Given the description of an element on the screen output the (x, y) to click on. 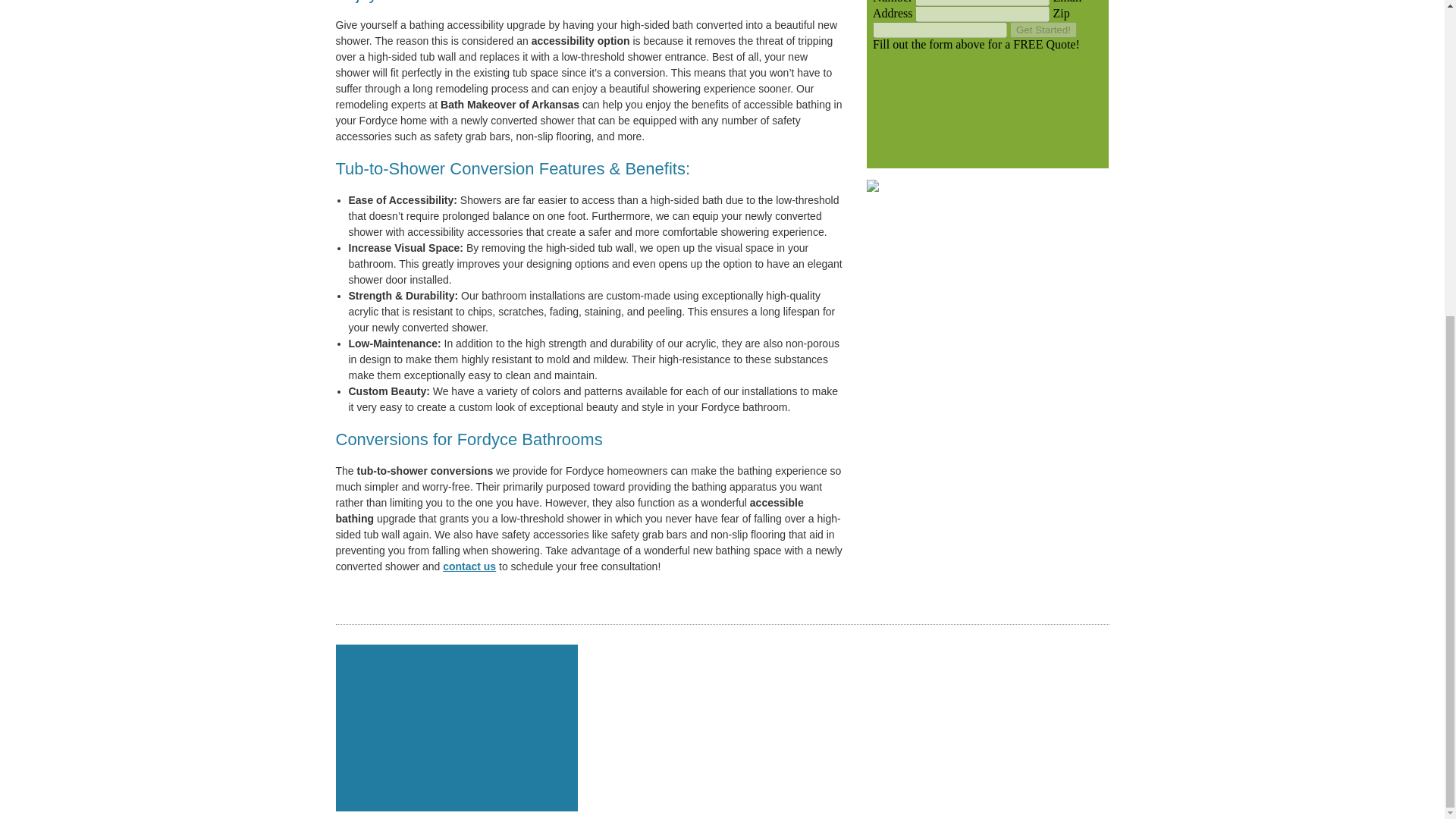
contact us (469, 566)
